Given the description of an element on the screen output the (x, y) to click on. 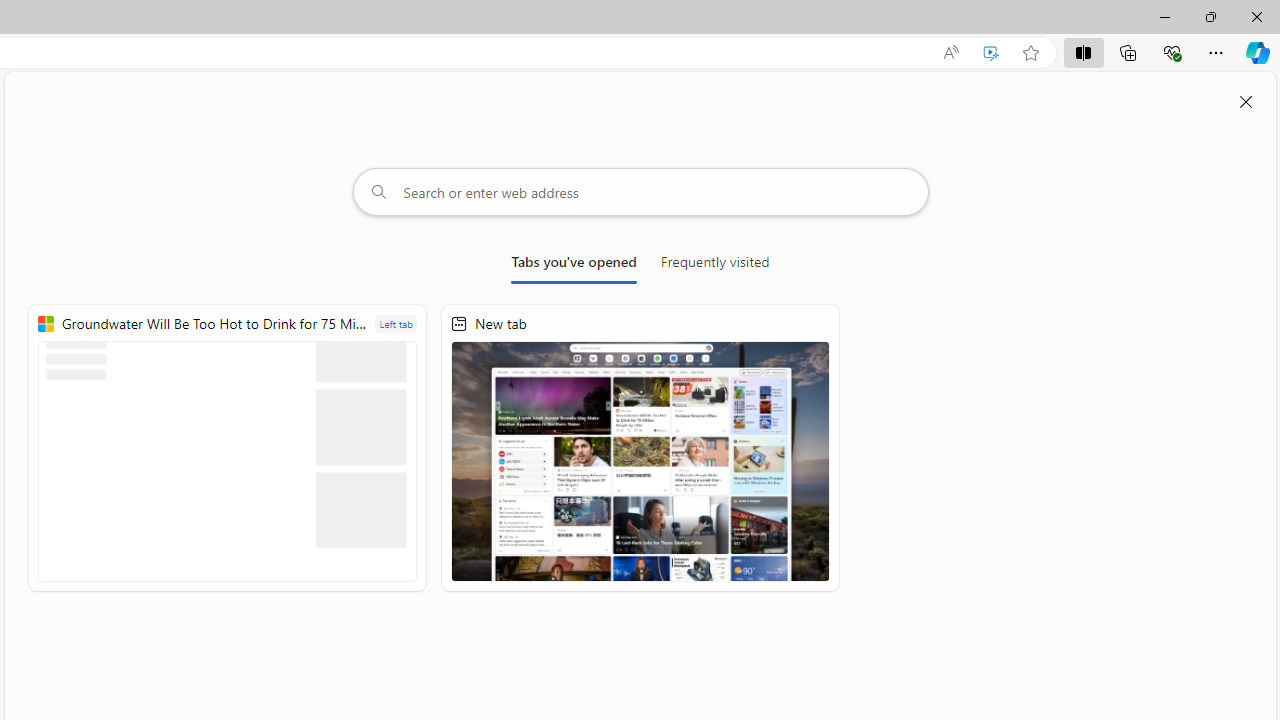
Close split screen (1245, 102)
Tabs you've opened (573, 265)
